Given the description of an element on the screen output the (x, y) to click on. 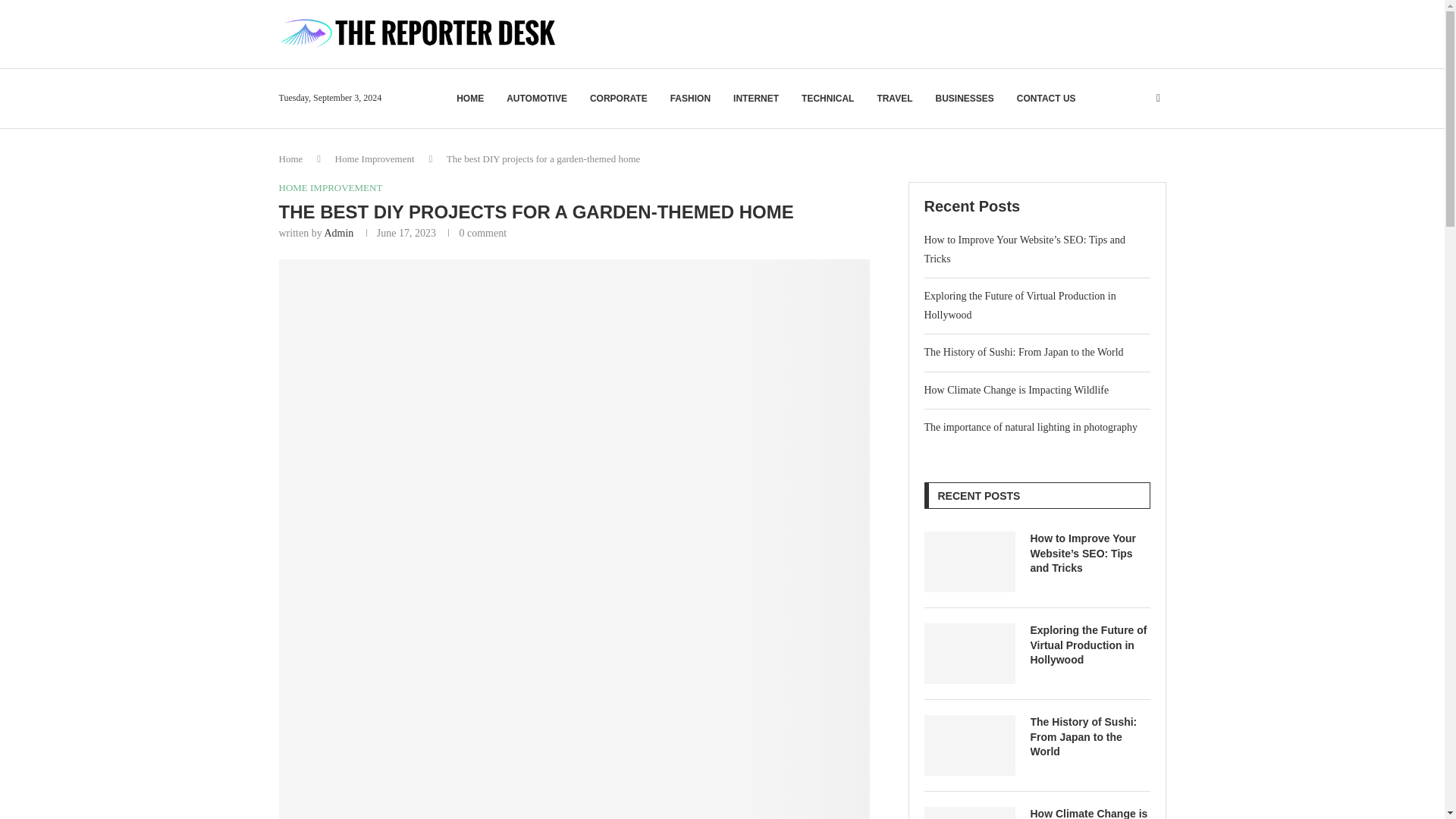
The History of Sushi: From Japan to the World (968, 744)
CORPORATE (618, 98)
Exploring the Future of Virtual Production in Hollywood (1089, 645)
CONTACT US (1045, 98)
INTERNET (755, 98)
Exploring the Future of Virtual Production in Hollywood (968, 653)
Search (1117, 127)
AUTOMOTIVE (536, 98)
BUSINESSES (963, 98)
